Given the description of an element on the screen output the (x, y) to click on. 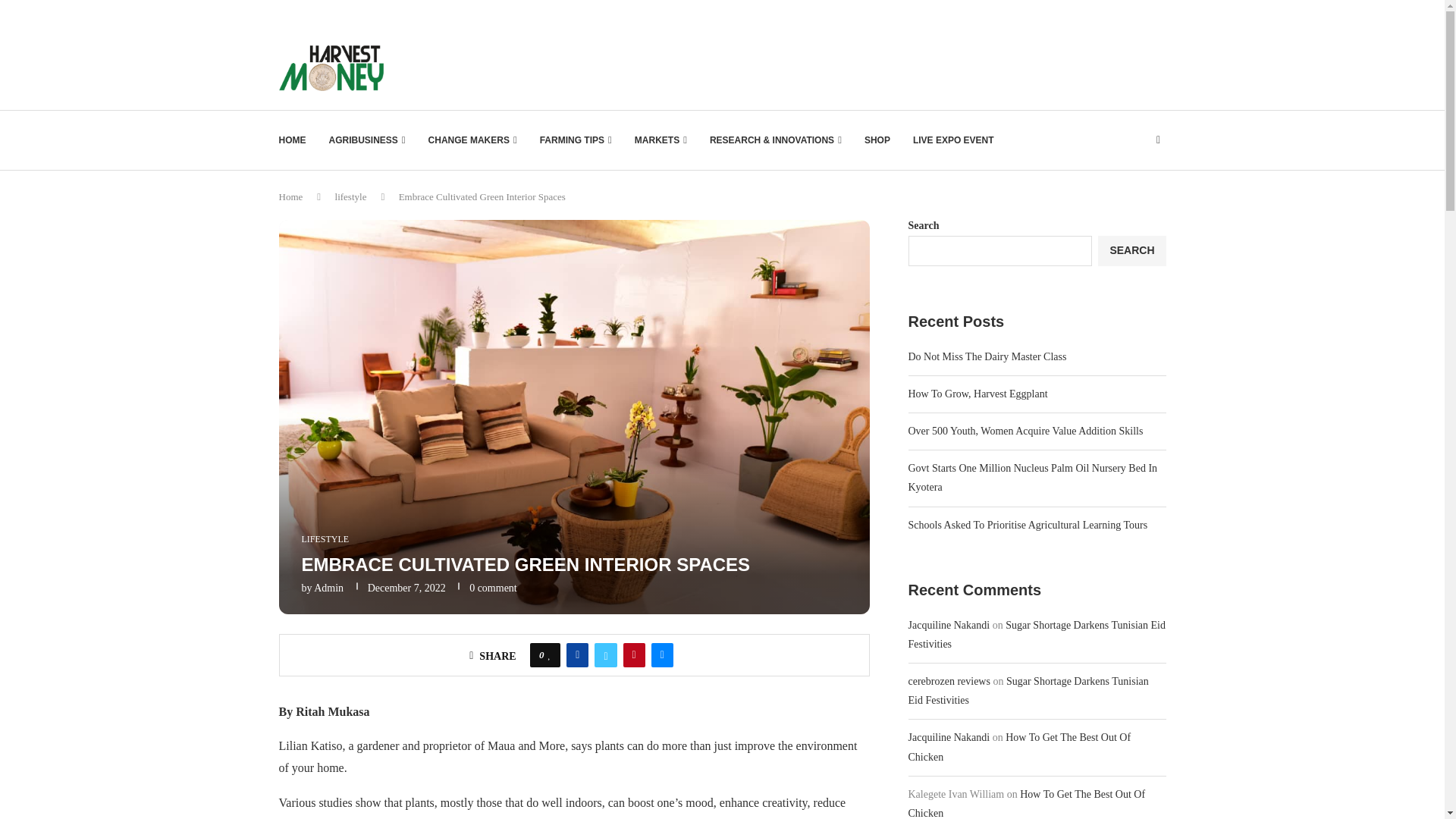
FARMING TIPS (575, 139)
LIVE EXPO EVENT (953, 139)
CHANGE MAKERS (472, 139)
AGRIBUSINESS (367, 139)
MARKETS (660, 139)
